Given the description of an element on the screen output the (x, y) to click on. 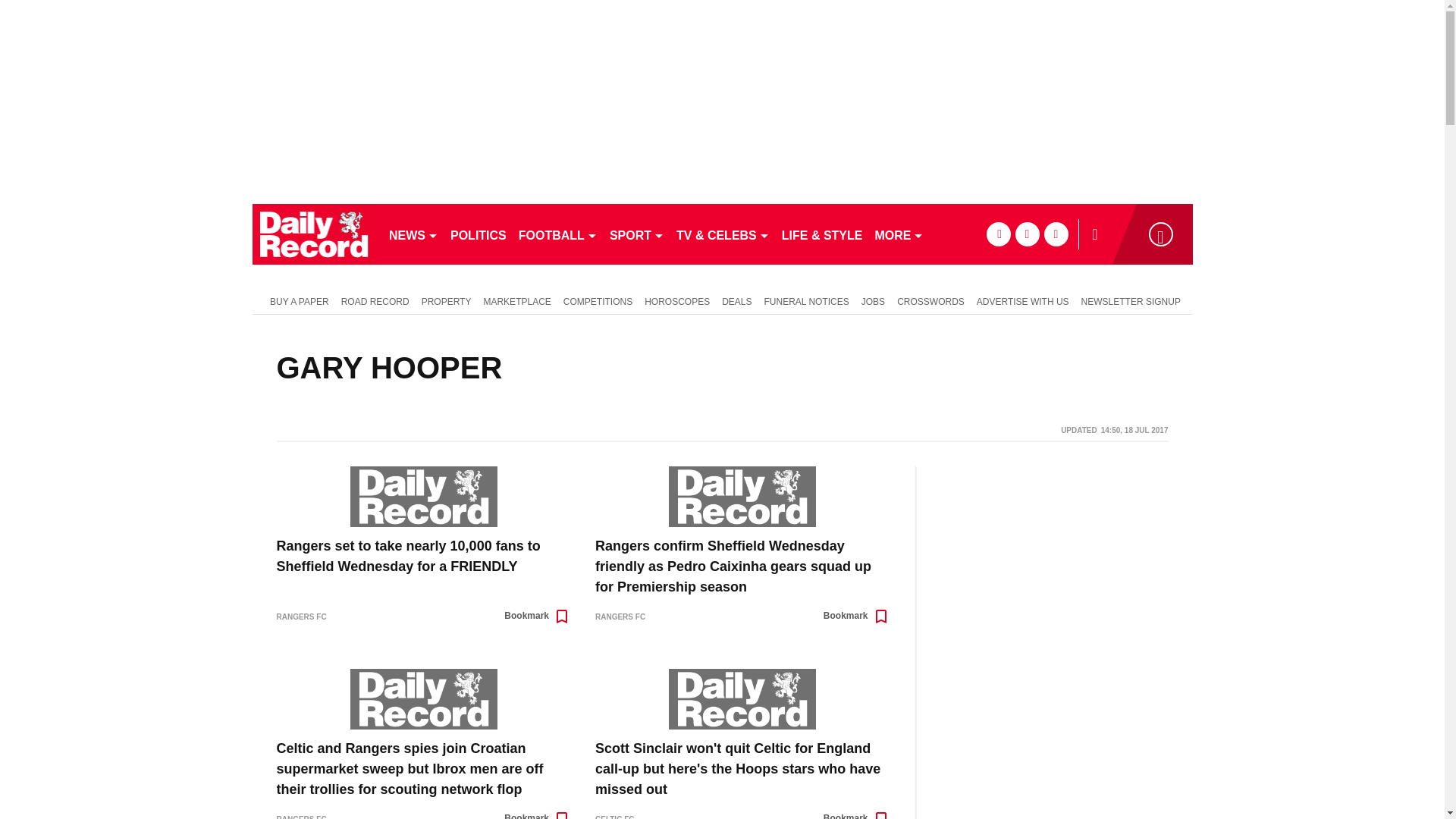
twitter (1026, 233)
dailyrecord (313, 233)
NEWS (413, 233)
SPORT (636, 233)
FOOTBALL (558, 233)
instagram (1055, 233)
POLITICS (478, 233)
facebook (997, 233)
